Given the description of an element on the screen output the (x, y) to click on. 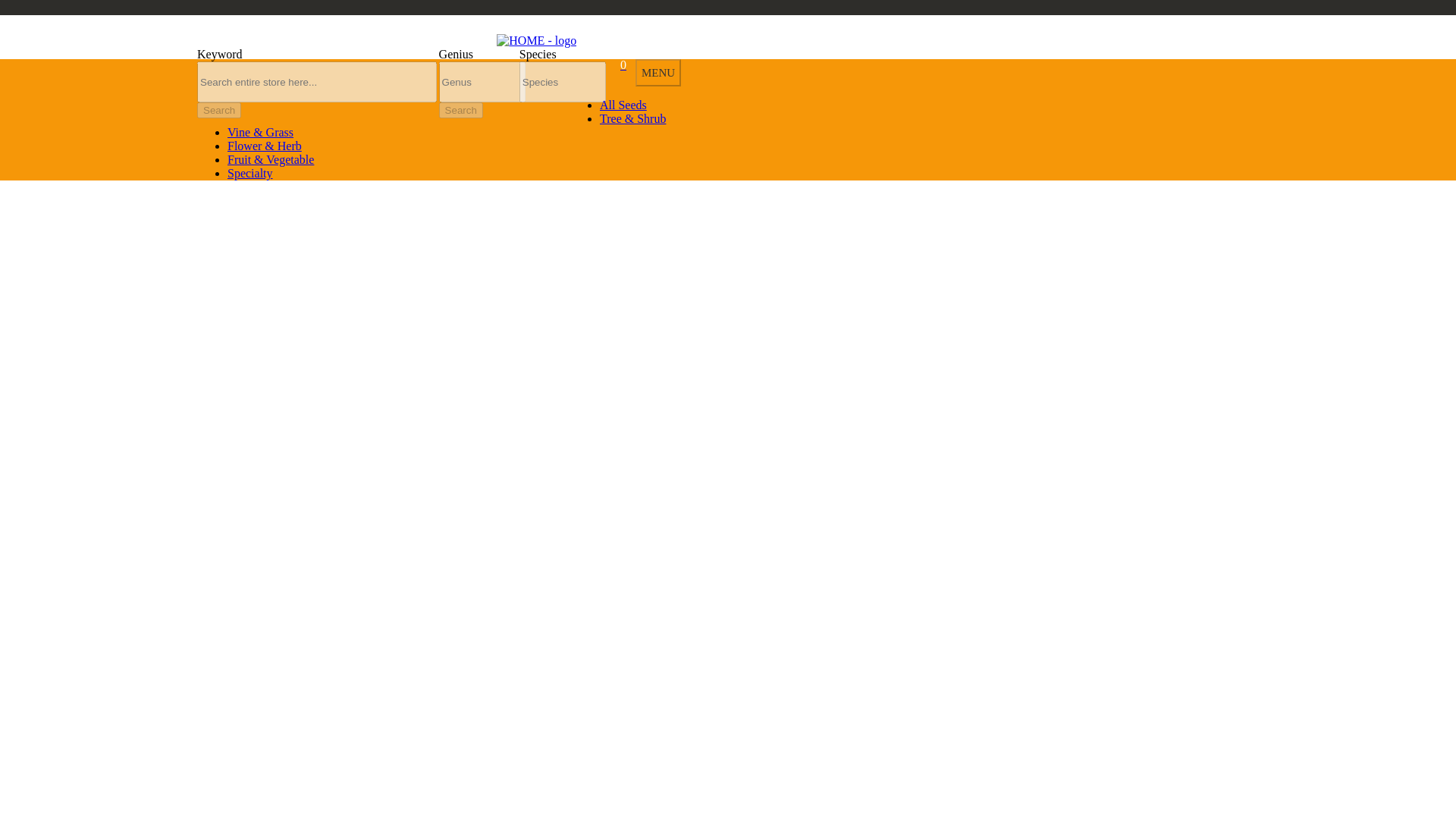
0 (616, 64)
New Arrivals (237, 34)
Search (461, 109)
Title (316, 81)
genus (482, 81)
Catalog (314, 34)
species (562, 81)
All Seeds (622, 104)
MENU (657, 72)
Specialty (250, 173)
Search (218, 109)
